Given the description of an element on the screen output the (x, y) to click on. 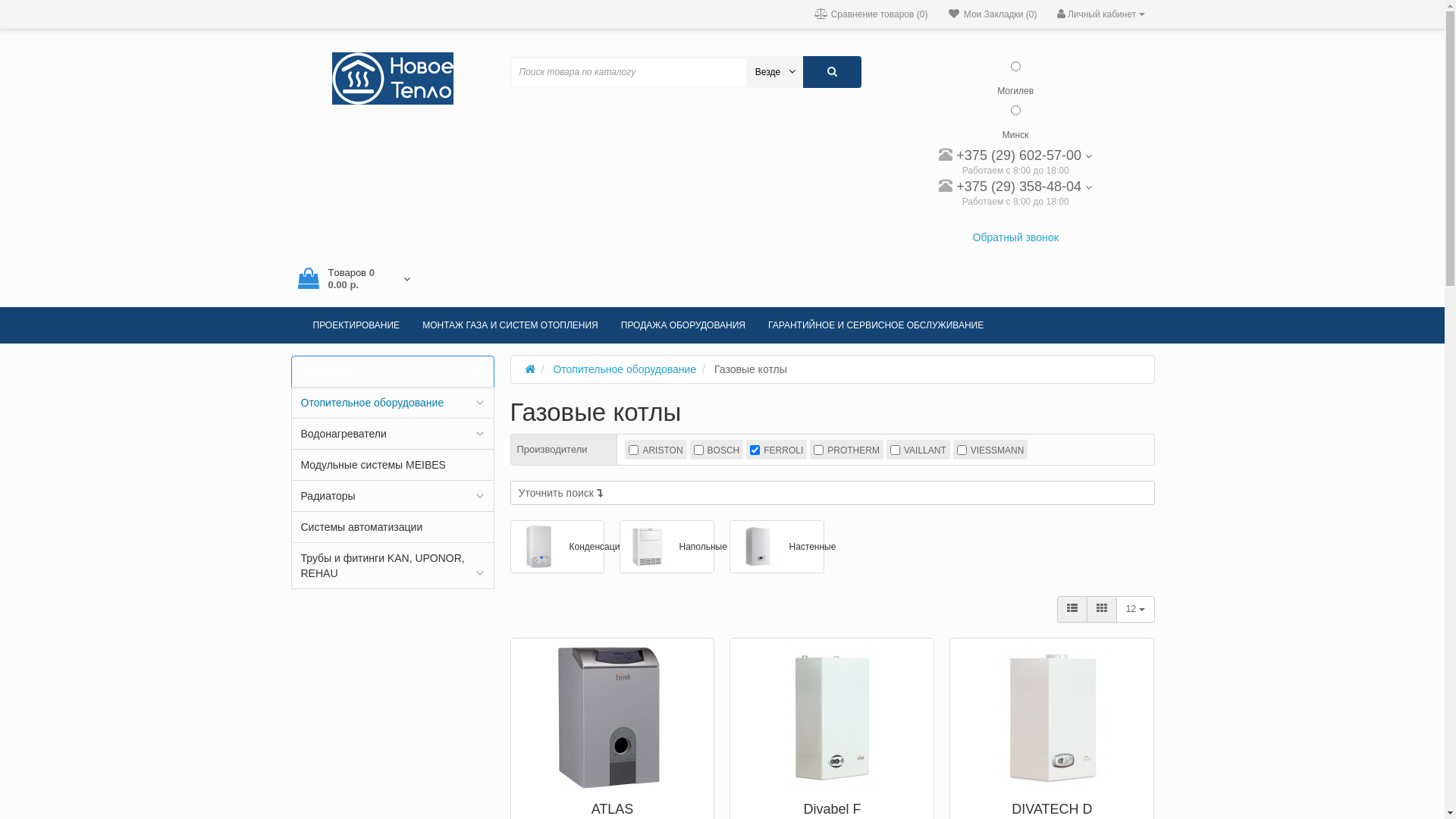
DIVATECH D Element type: hover (1051, 715)
ATLAS Element type: text (612, 808)
Divabel F Element type: hover (831, 715)
12 Element type: text (1135, 608)
ATLAS Element type: hover (611, 715)
DIVATECH D Element type: text (1051, 808)
Divabel F Element type: text (831, 808)
